Given the description of an element on the screen output the (x, y) to click on. 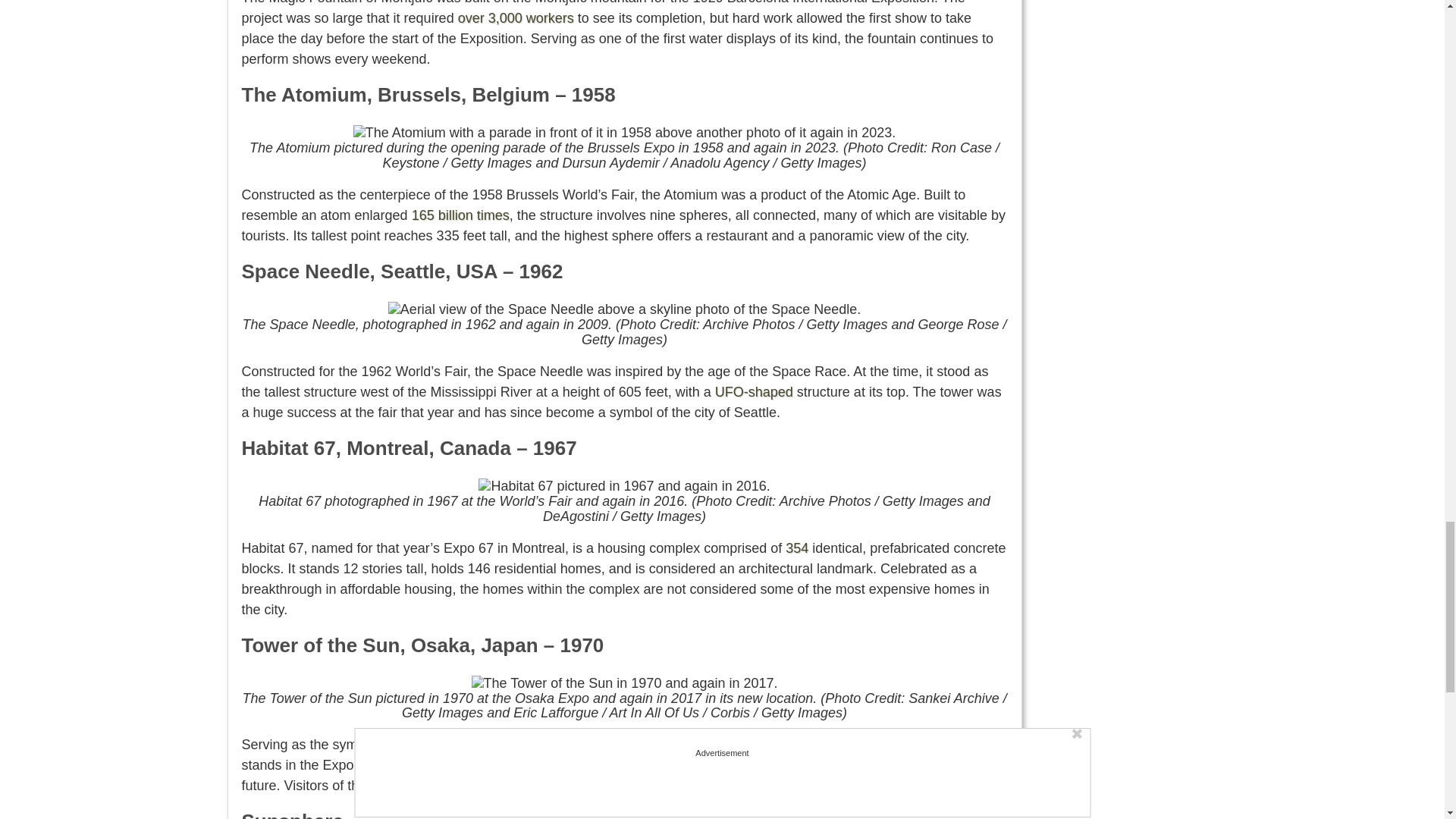
over 3,000 workers (515, 17)
UFO-shaped (753, 391)
354 (797, 547)
Japan (646, 744)
165 billion times (460, 215)
